Given the description of an element on the screen output the (x, y) to click on. 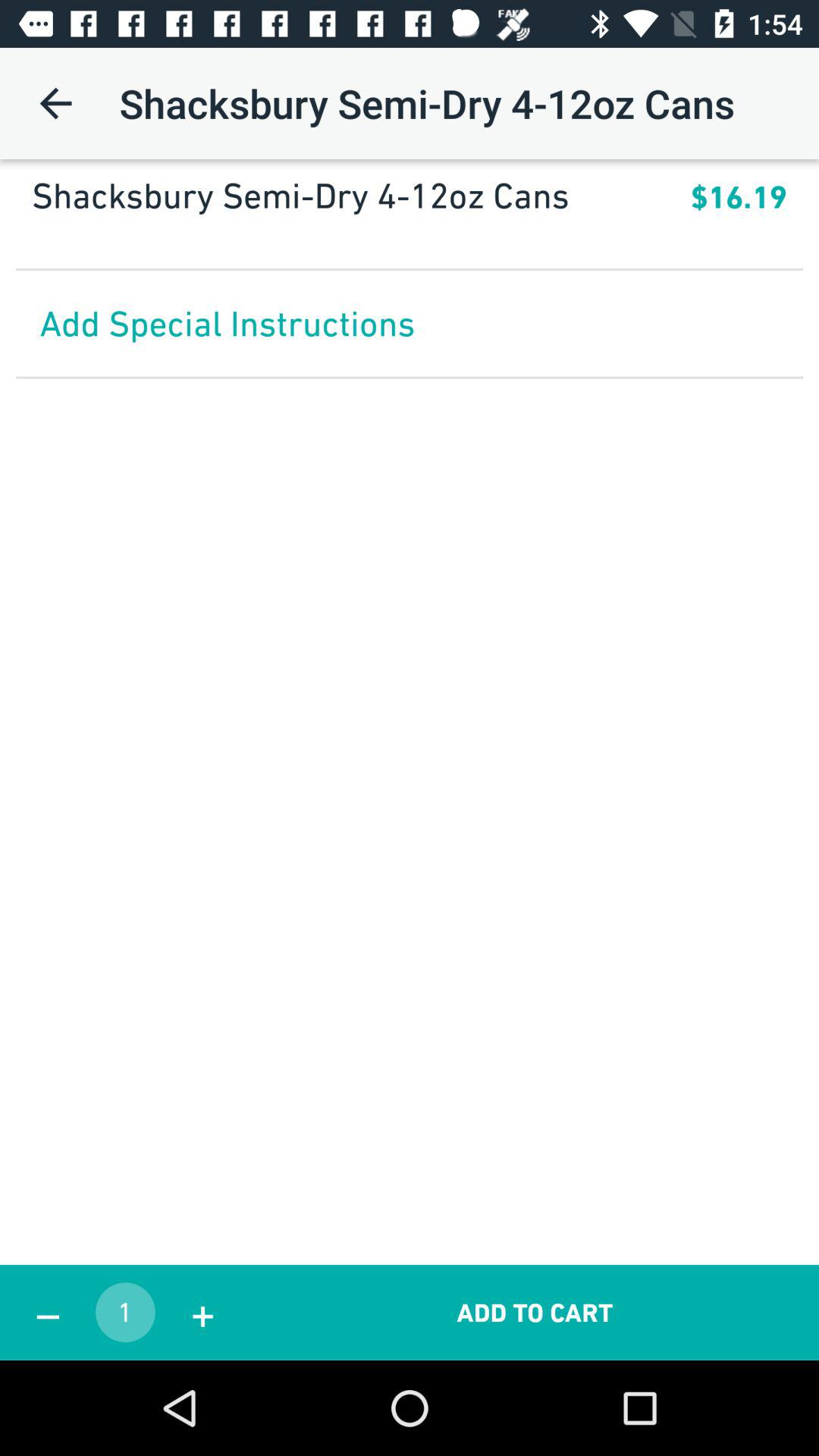
tap the icon to the left of the add to cart icon (202, 1312)
